Given the description of an element on the screen output the (x, y) to click on. 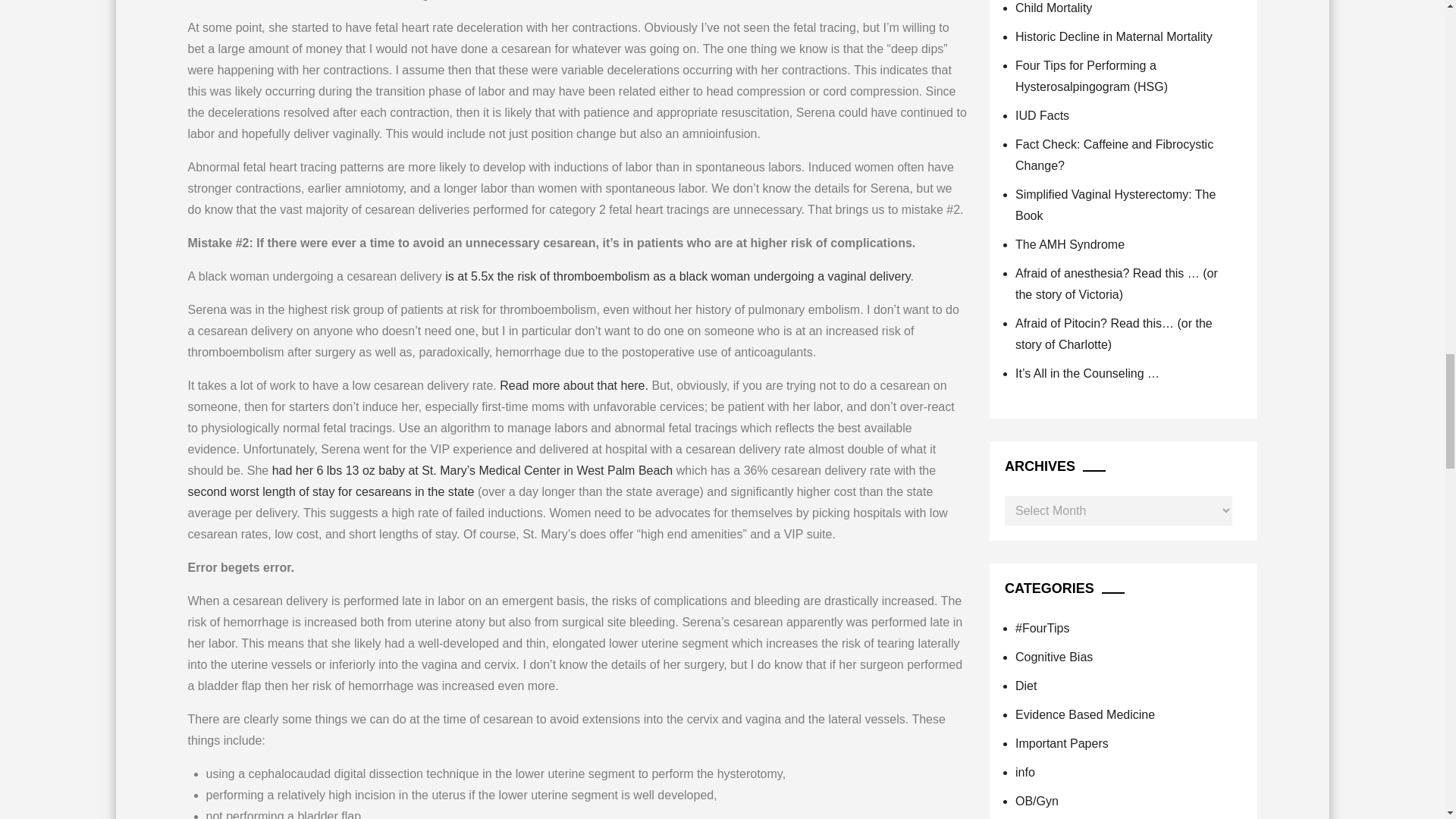
Read more about that here. (573, 385)
second worst length of stay for cesareans in the state (330, 491)
